Given the description of an element on the screen output the (x, y) to click on. 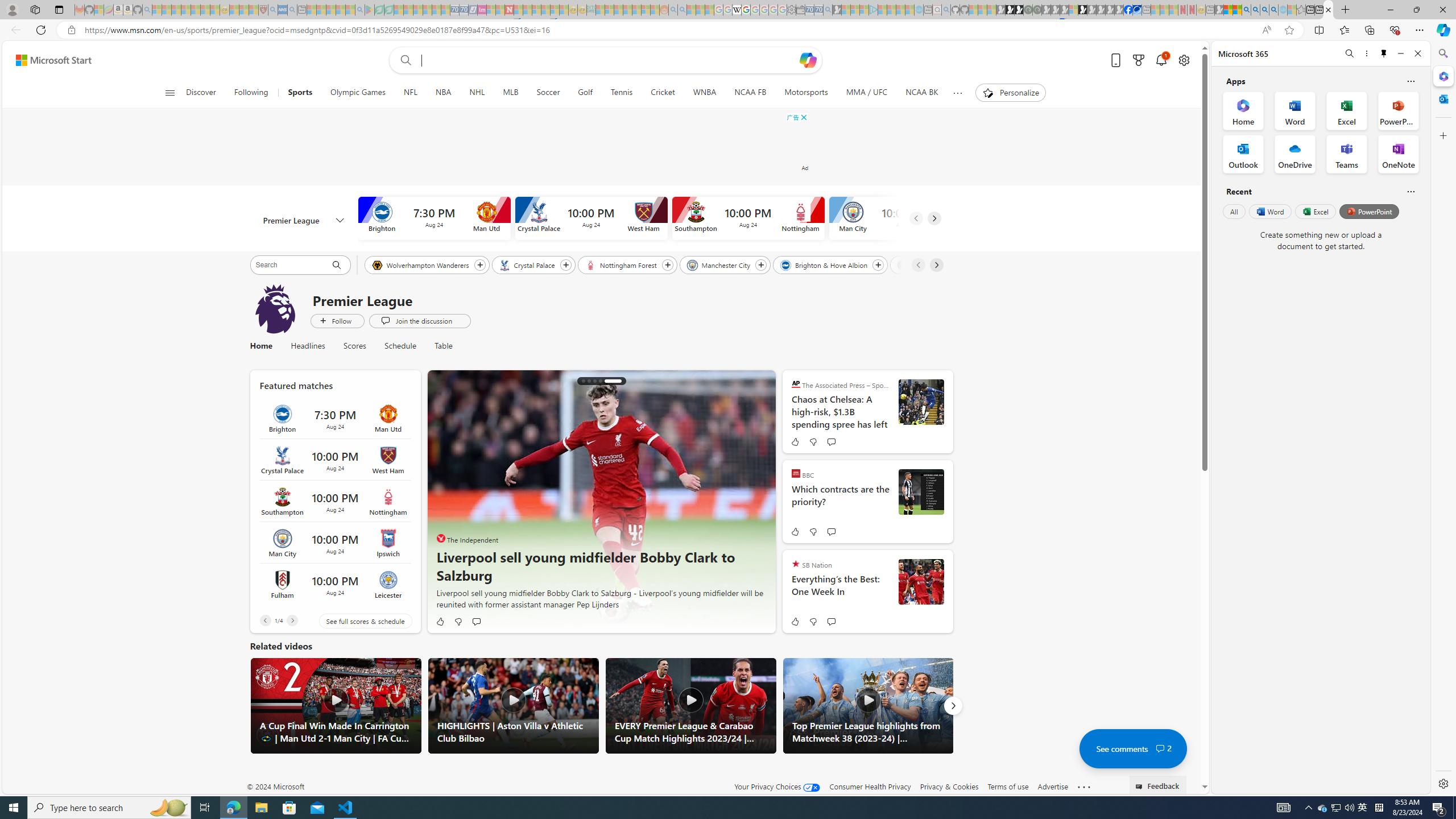
Is this helpful? (1410, 191)
Excel (1315, 210)
Google Chrome Internet Browser Download - Search Images (1272, 9)
Table (438, 345)
NCAA BK (921, 92)
OneDrive Office App (1295, 154)
Golf (585, 92)
